Given the description of an element on the screen output the (x, y) to click on. 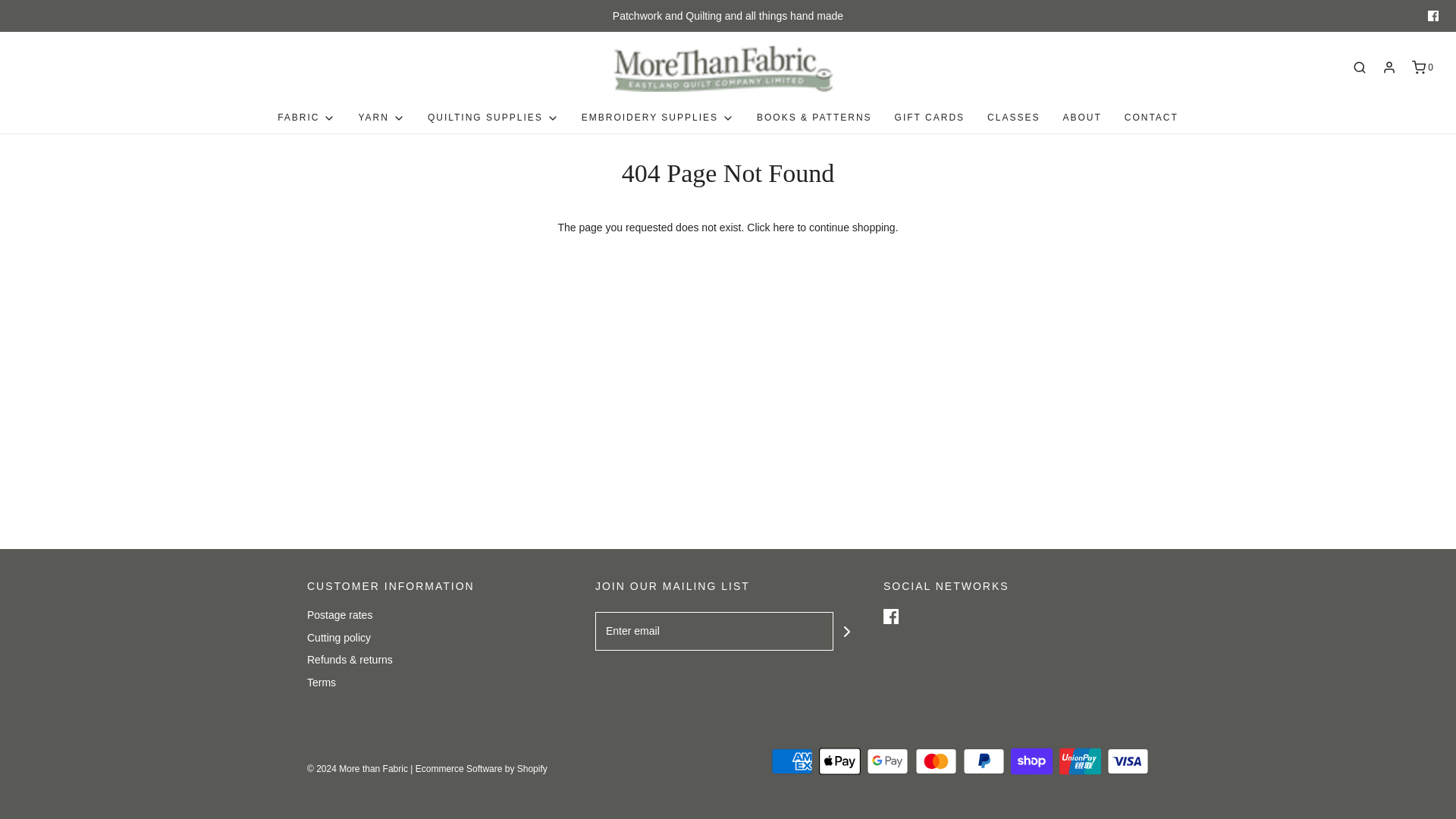
Log in (1388, 67)
Union Pay (1079, 761)
Cart (1420, 67)
Facebook icon (1433, 15)
Visa (1127, 761)
Facebook icon (1433, 15)
Mastercard (935, 761)
Search (1435, 6)
Apple Pay (839, 761)
Facebook icon (890, 616)
Google Pay (887, 761)
Shop Pay (1031, 761)
Search (1359, 67)
American Express (791, 761)
PayPal (983, 761)
